Given the description of an element on the screen output the (x, y) to click on. 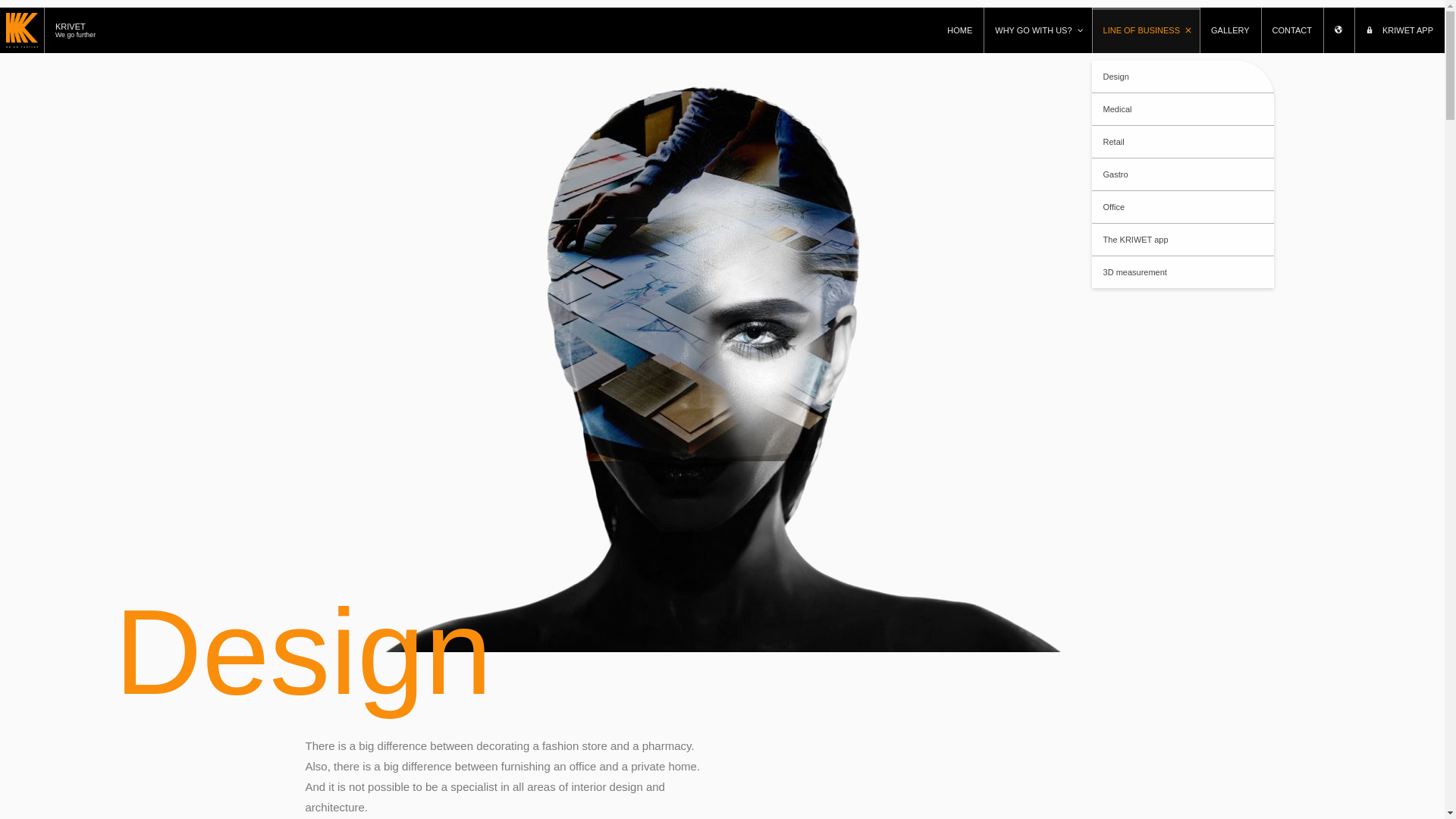
Office (1183, 206)
Gastro (1183, 174)
GALLERY (1229, 30)
The KRIWET app (1183, 239)
CONTACT (1291, 30)
HOME (960, 30)
LINE OF BUSINESS (1145, 30)
Retail (1183, 142)
Medical (1183, 109)
WHY GO WITH US? (1037, 30)
